Given the description of an element on the screen output the (x, y) to click on. 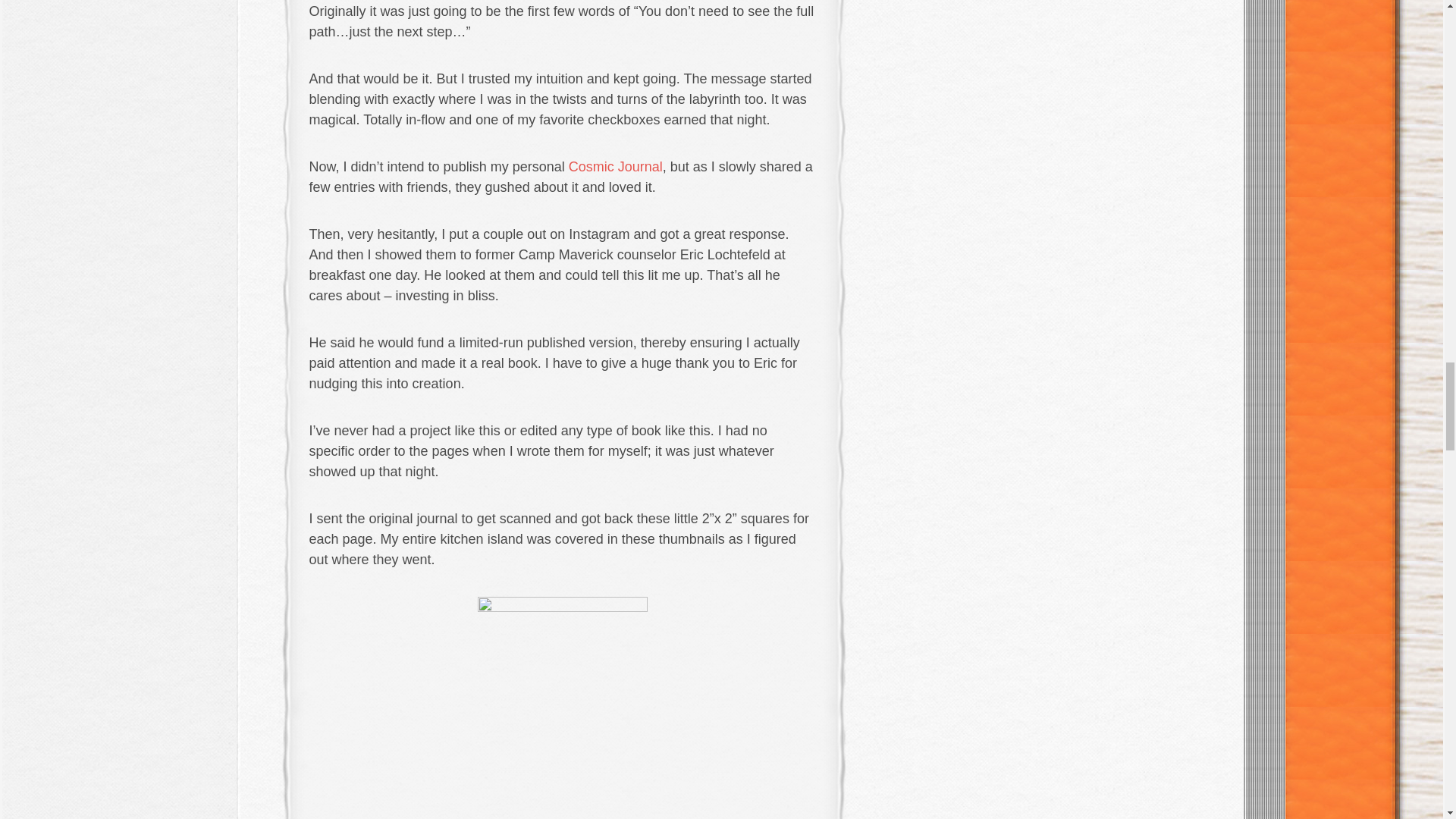
Cosmic Journal (615, 166)
